Given the description of an element on the screen output the (x, y) to click on. 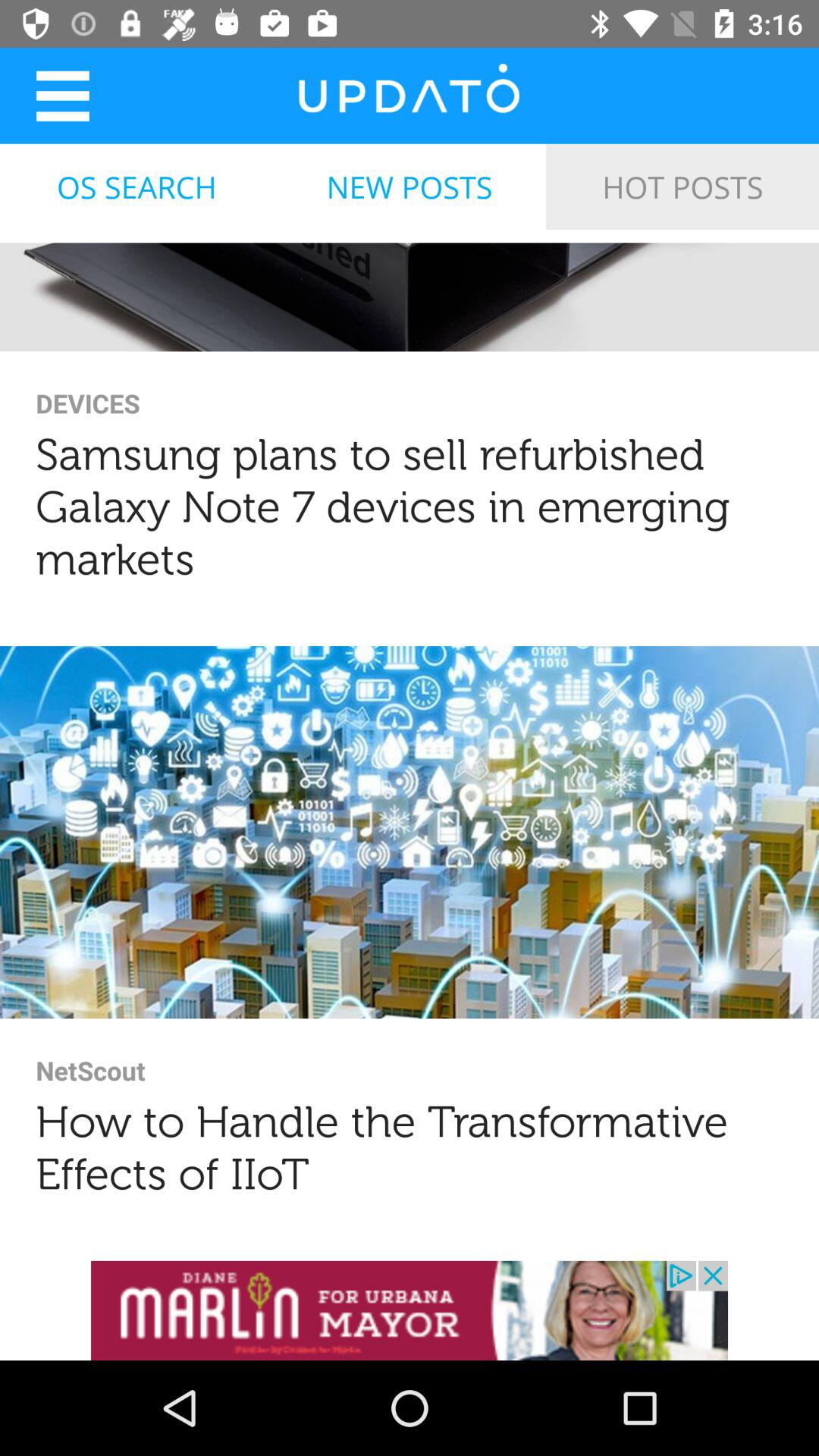
expand options button (62, 95)
